Given the description of an element on the screen output the (x, y) to click on. 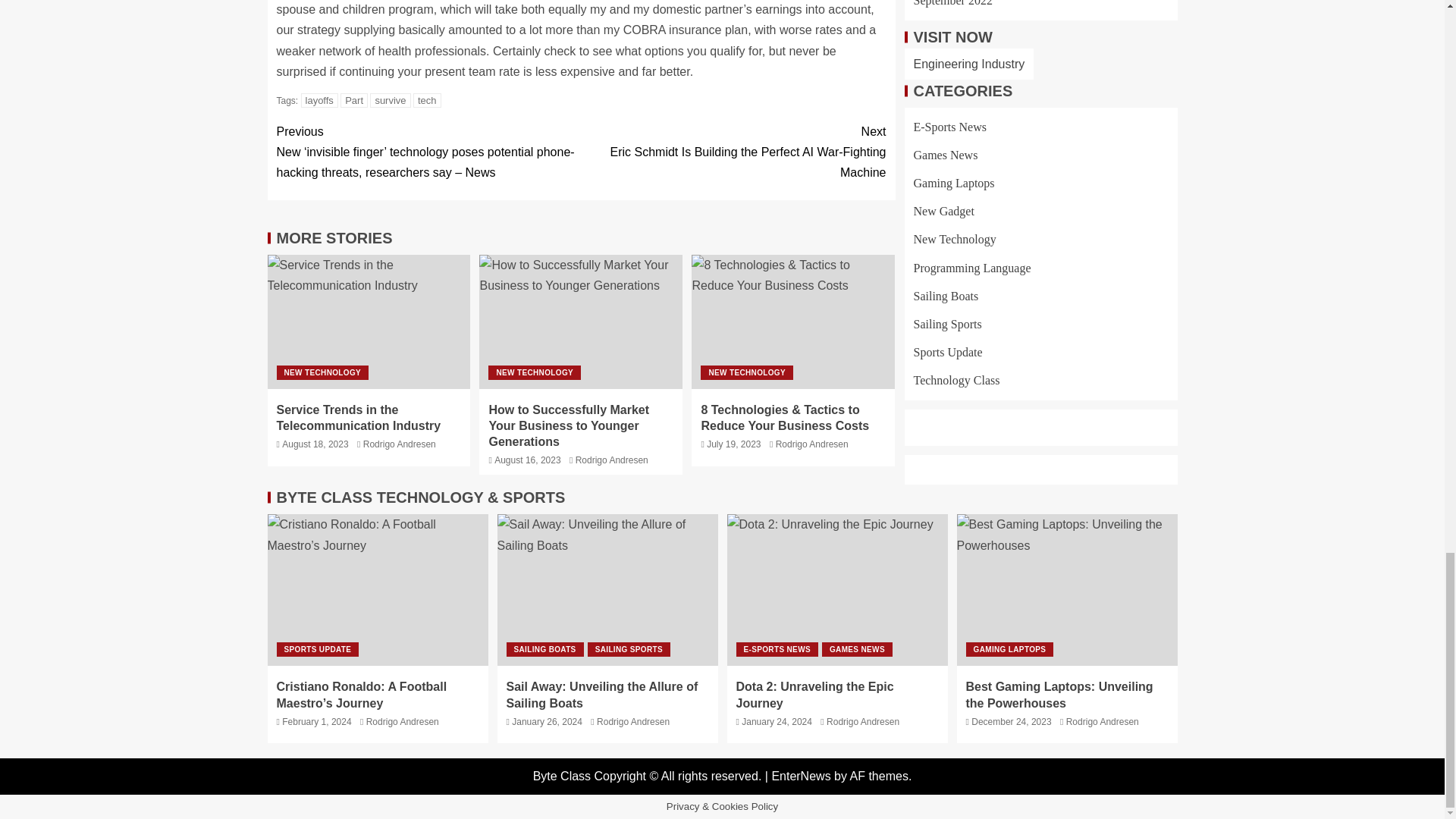
Sail Away: Unveiling the Allure of Sailing Boats (607, 589)
Part (354, 100)
Dota 2: Unraveling the Epic Journey (836, 589)
NEW TECHNOLOGY (322, 372)
Best Gaming Laptops: Unveiling the Powerhouses (1066, 589)
survive (389, 100)
tech (427, 100)
layoffs (319, 100)
Service Trends in the Telecommunication Industry (358, 417)
Rodrigo Andresen (398, 443)
Service Trends in the Telecommunication Industry (368, 321)
